Given the description of an element on the screen output the (x, y) to click on. 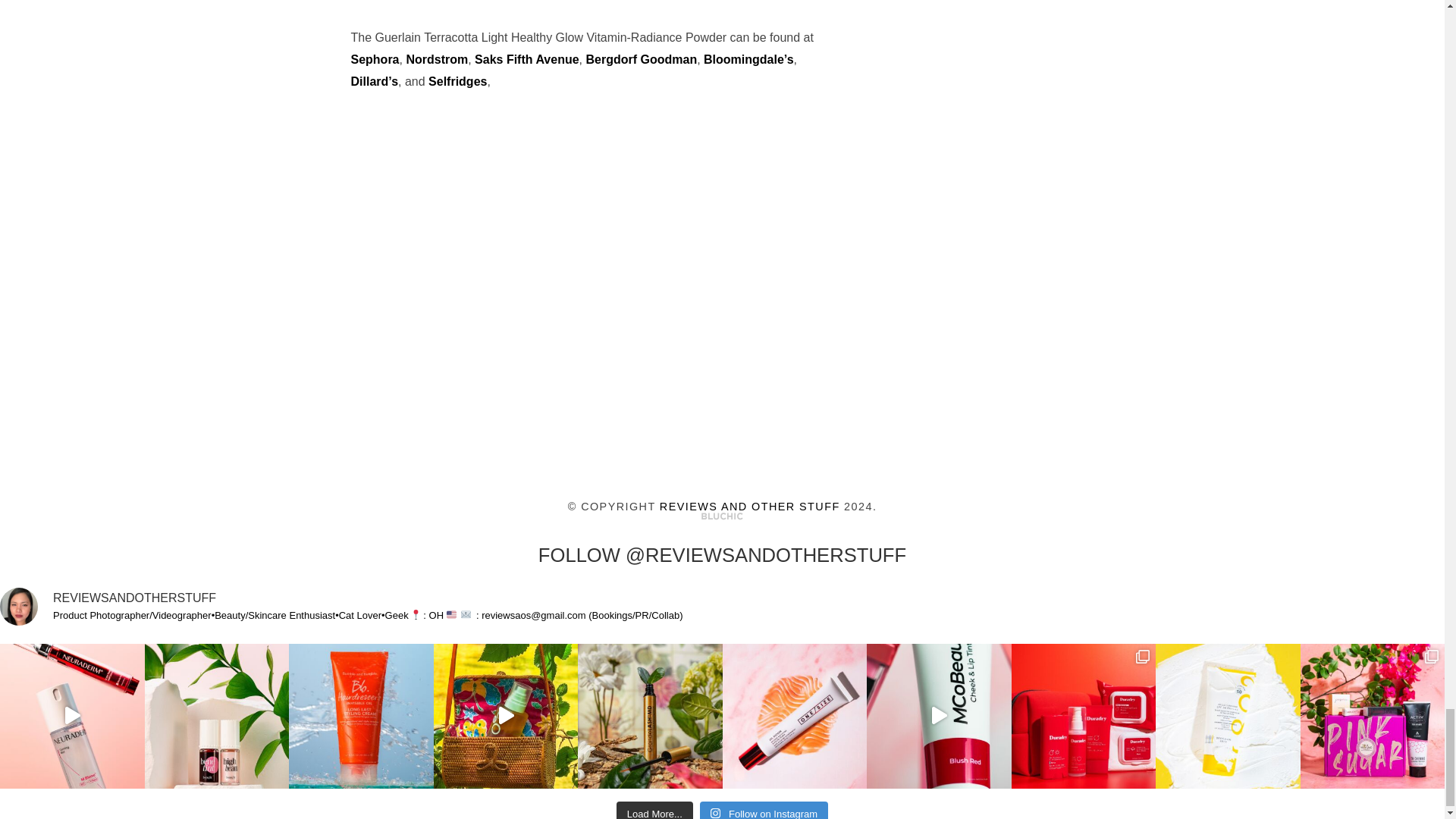
Saks Fifth Avenue (526, 59)
Sephora (374, 59)
Theme by Bluchic (721, 516)
Nordstrom (436, 59)
